Given the description of an element on the screen output the (x, y) to click on. 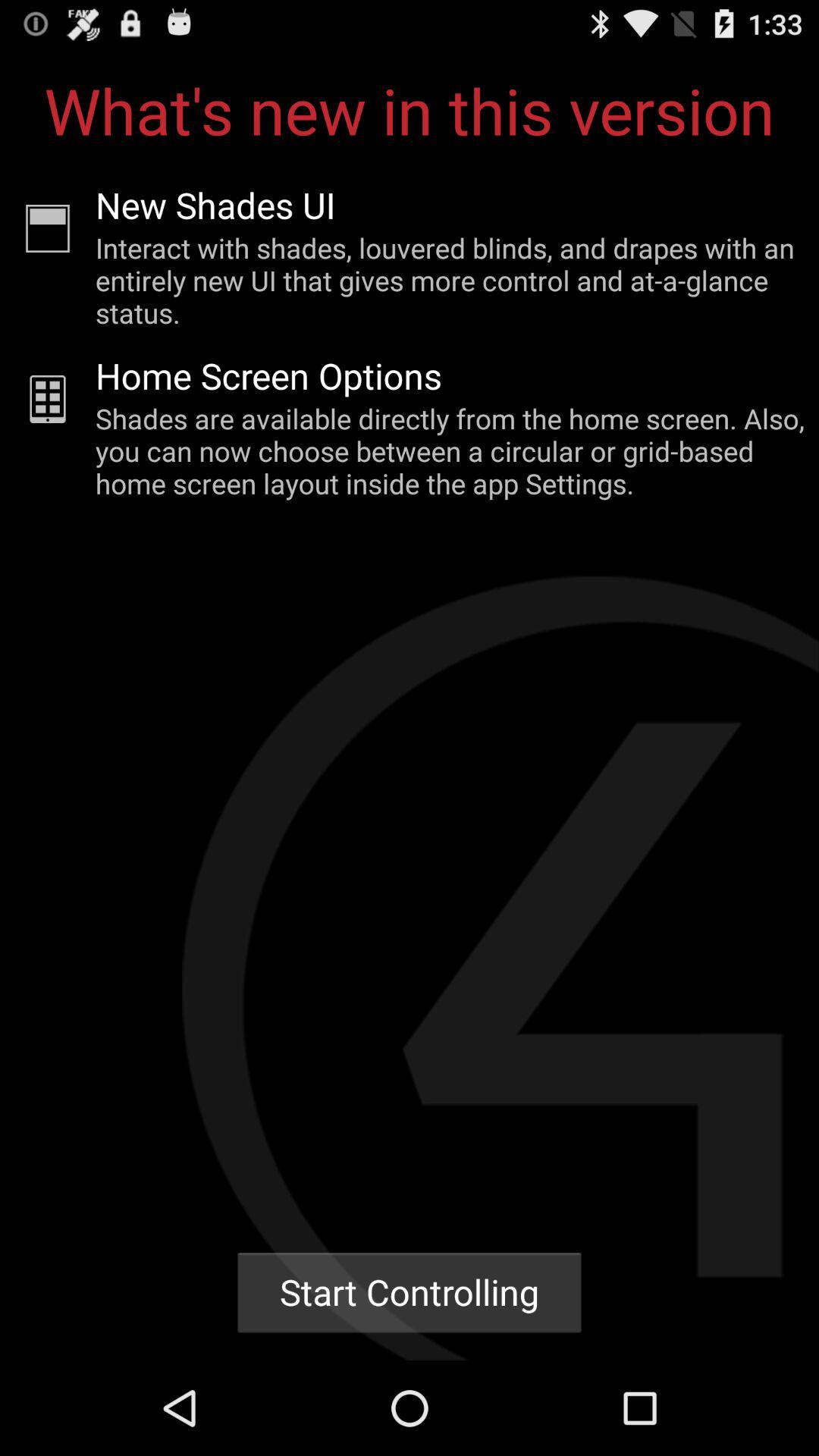
scroll to the start controlling (409, 1292)
